Given the description of an element on the screen output the (x, y) to click on. 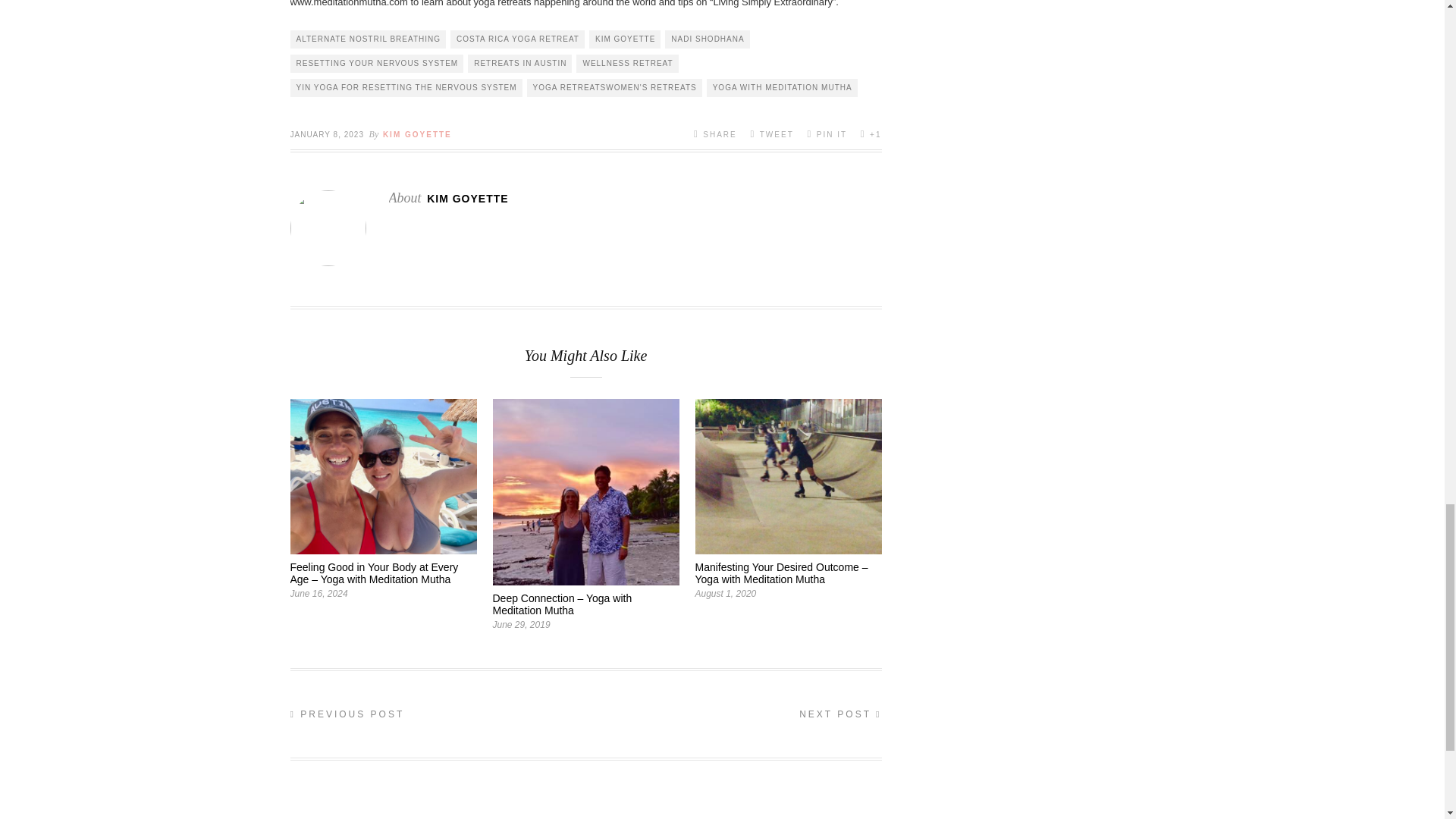
KIM GOYETTE (625, 39)
COSTA RICA YOGA RETREAT (517, 39)
TWEET (771, 133)
SHARE (715, 133)
ALTERNATE NOSTRIL BREATHING (367, 39)
PIN IT (826, 133)
WELLNESS RETREAT (627, 63)
YIN YOGA FOR RESETTING THE NERVOUS SYSTEM (405, 87)
KIM GOYETTE (467, 198)
RESETTING YOUR NERVOUS SYSTEM (376, 63)
Posts by Kim Goyette (416, 134)
YOGA RETREATSWOMEN'S RETREATS (614, 87)
KIM GOYETTE (416, 134)
NADI SHODHANA (707, 39)
RETREATS IN AUSTIN (519, 63)
